Given the description of an element on the screen output the (x, y) to click on. 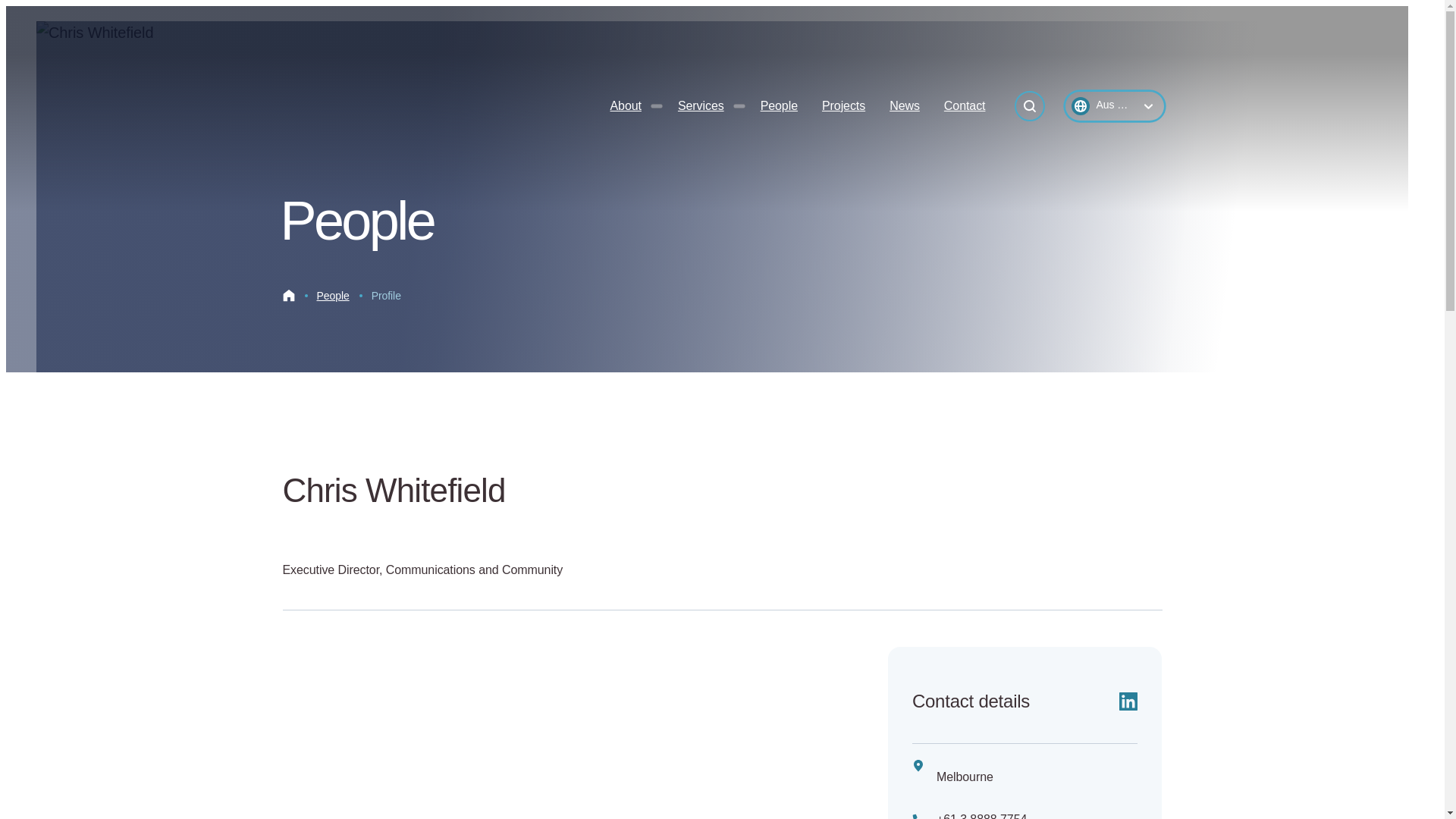
People (333, 295)
About (624, 105)
People (778, 105)
News (904, 105)
Services (700, 105)
Projects (843, 105)
Contact (964, 105)
